Given the description of an element on the screen output the (x, y) to click on. 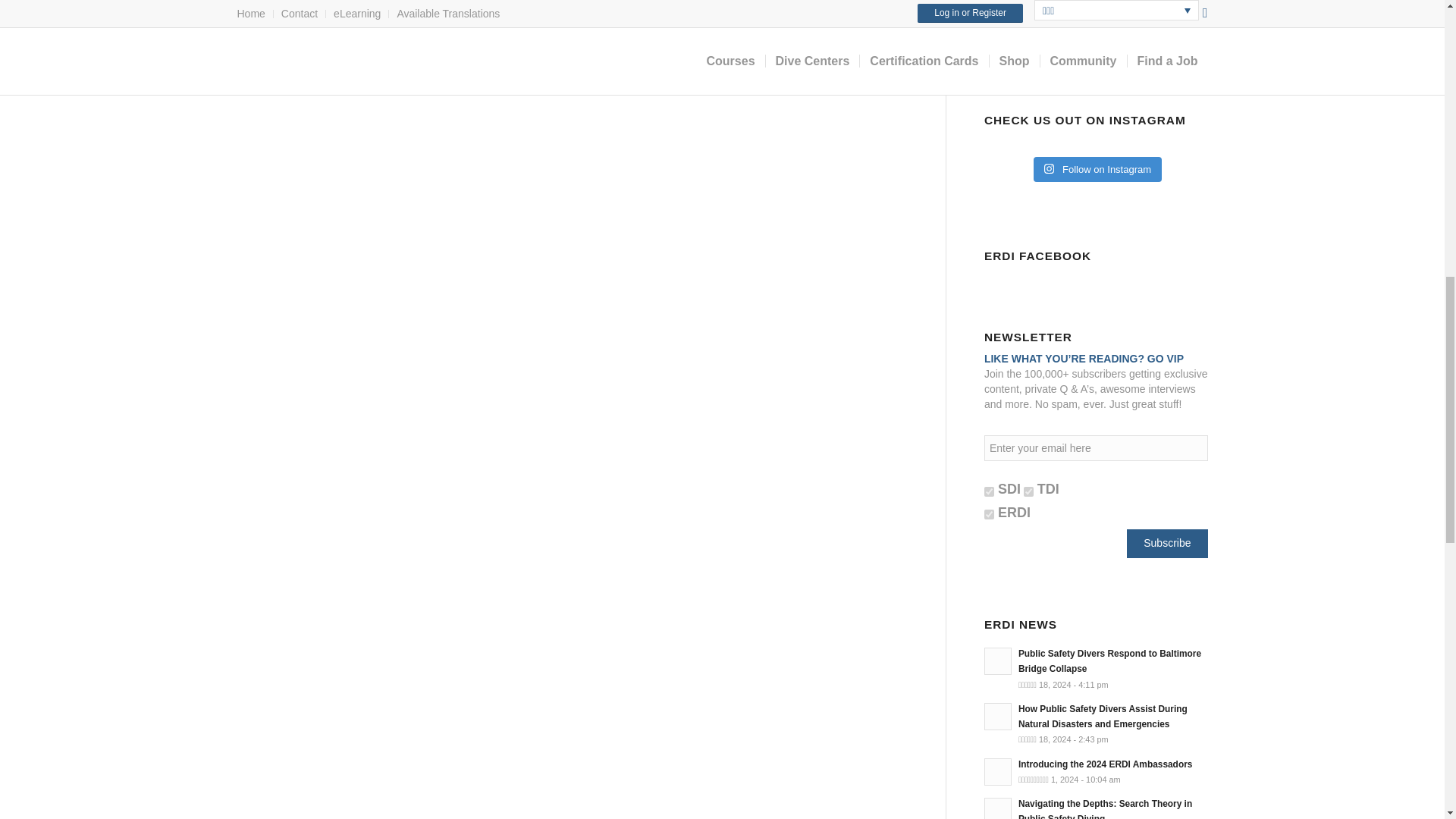
Read: Introducing the 2024 ERDI Ambassadors (997, 771)
ON (989, 491)
ON (989, 514)
Read: Introducing the 2024 ERDI Ambassadors (1104, 764)
ON (1028, 491)
